Given the description of an element on the screen output the (x, y) to click on. 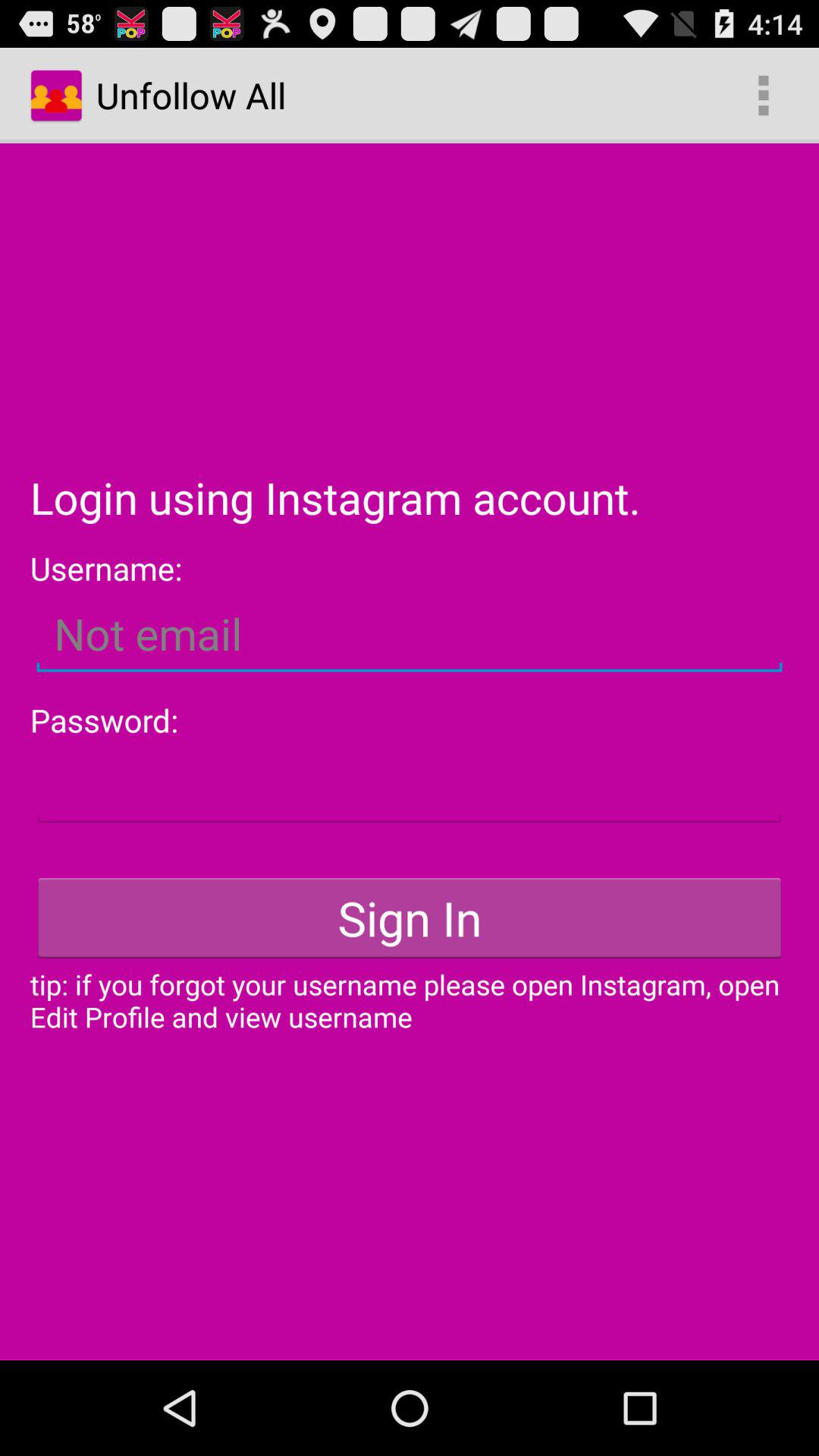
turn off item above login using instagram app (763, 95)
